Given the description of an element on the screen output the (x, y) to click on. 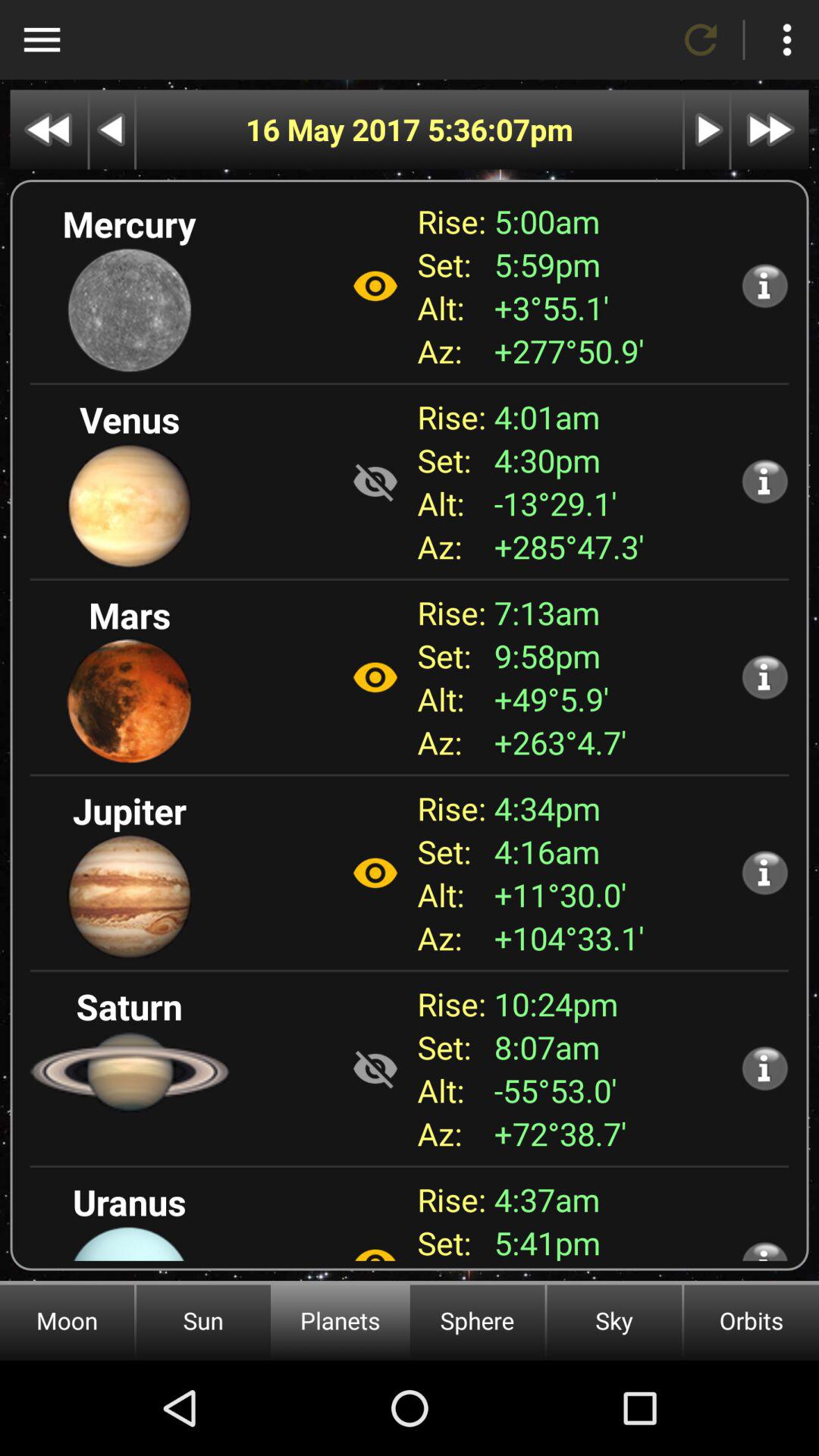
notification (764, 1250)
